Given the description of an element on the screen output the (x, y) to click on. 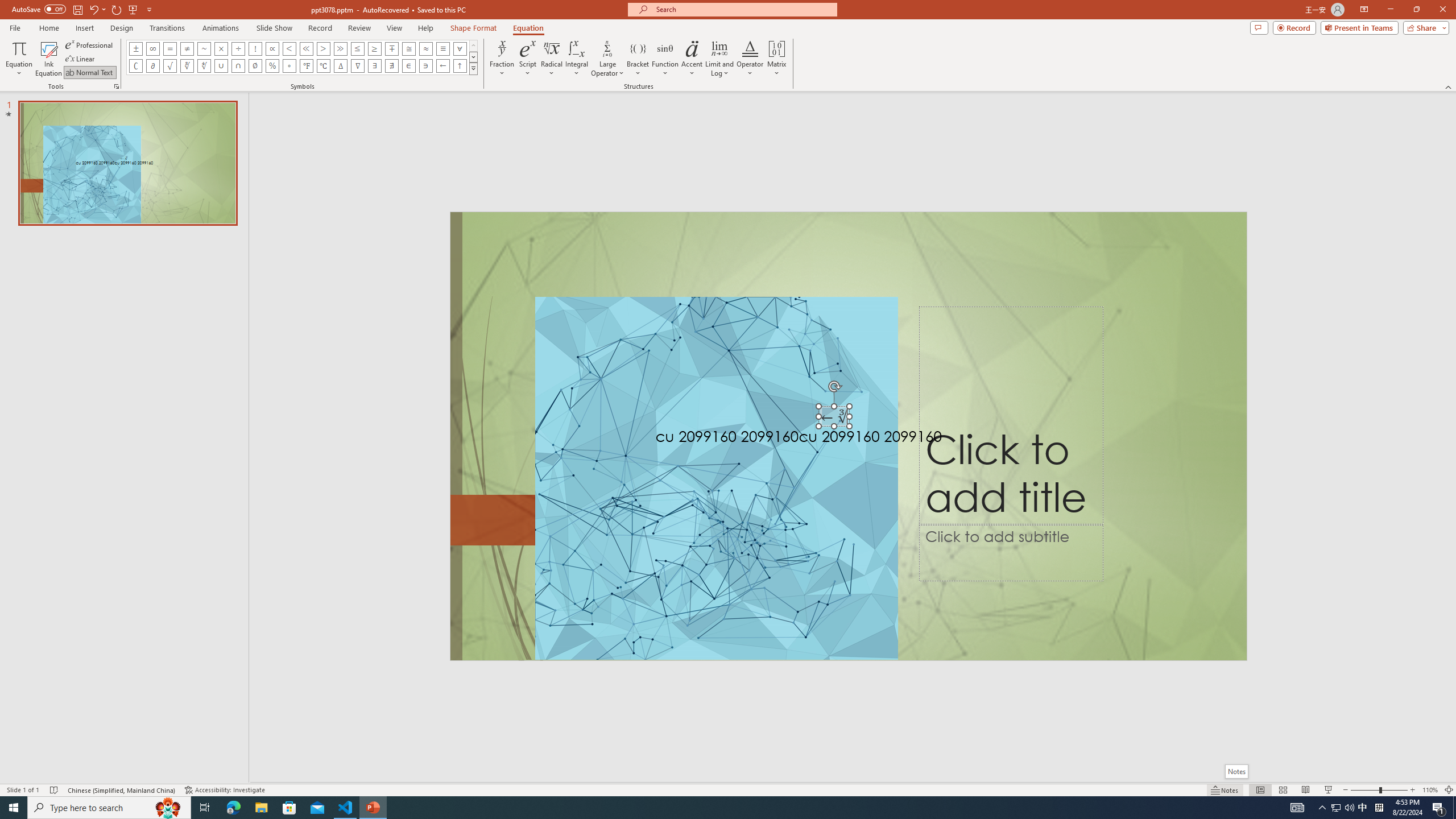
Equation Symbol Identical To (442, 48)
Equation Symbol Not Equal To (187, 48)
Equation Symbol Empty Set (255, 65)
Equation Symbol Greater Than or Equal To (374, 48)
Equation (18, 58)
Equation Symbol Minus Plus (391, 48)
